Given the description of an element on the screen output the (x, y) to click on. 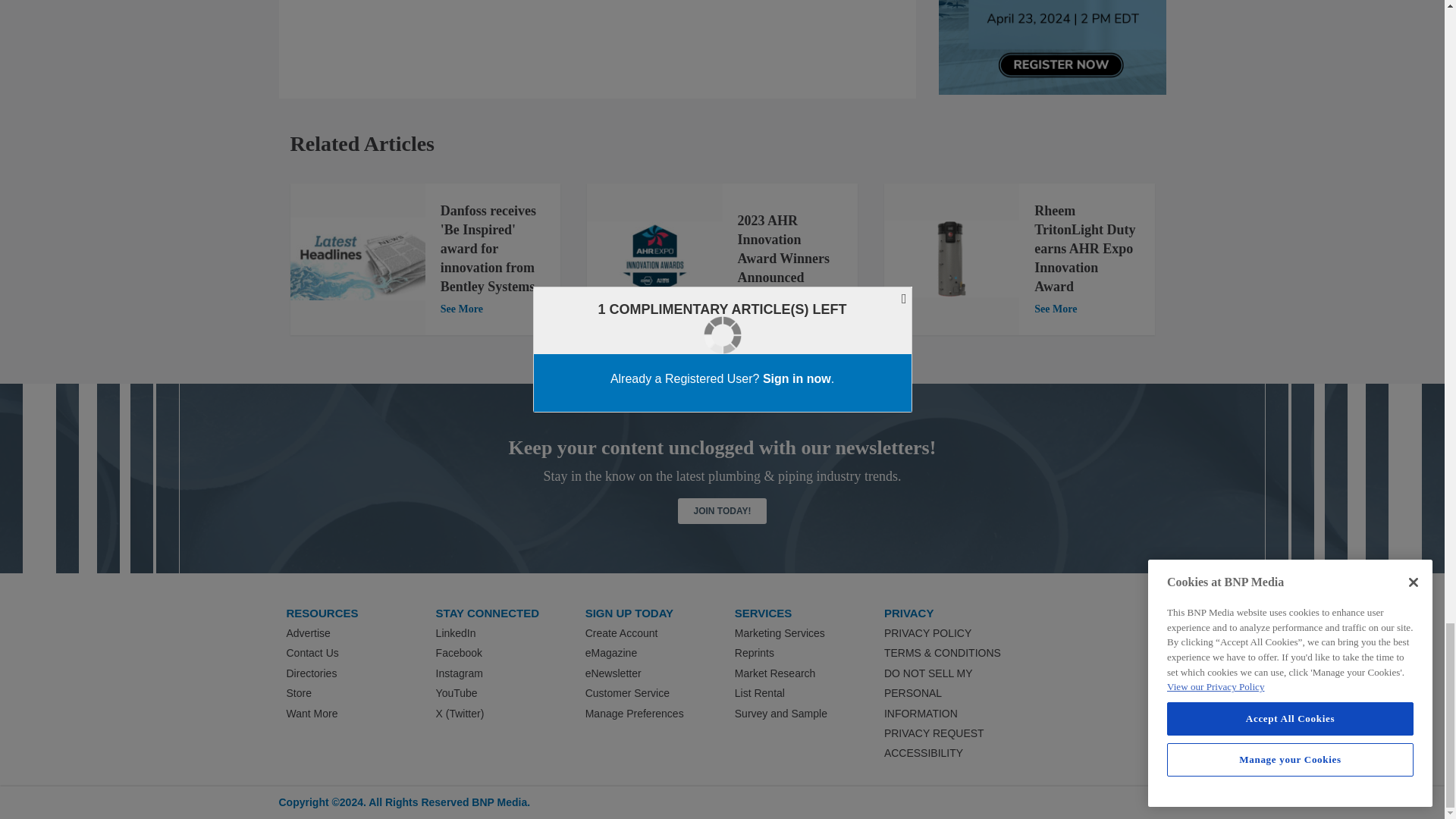
Rheem.gif (951, 258)
Headlines (357, 258)
AHR-Expo-Innovation-Awards.jpg (654, 259)
